Given the description of an element on the screen output the (x, y) to click on. 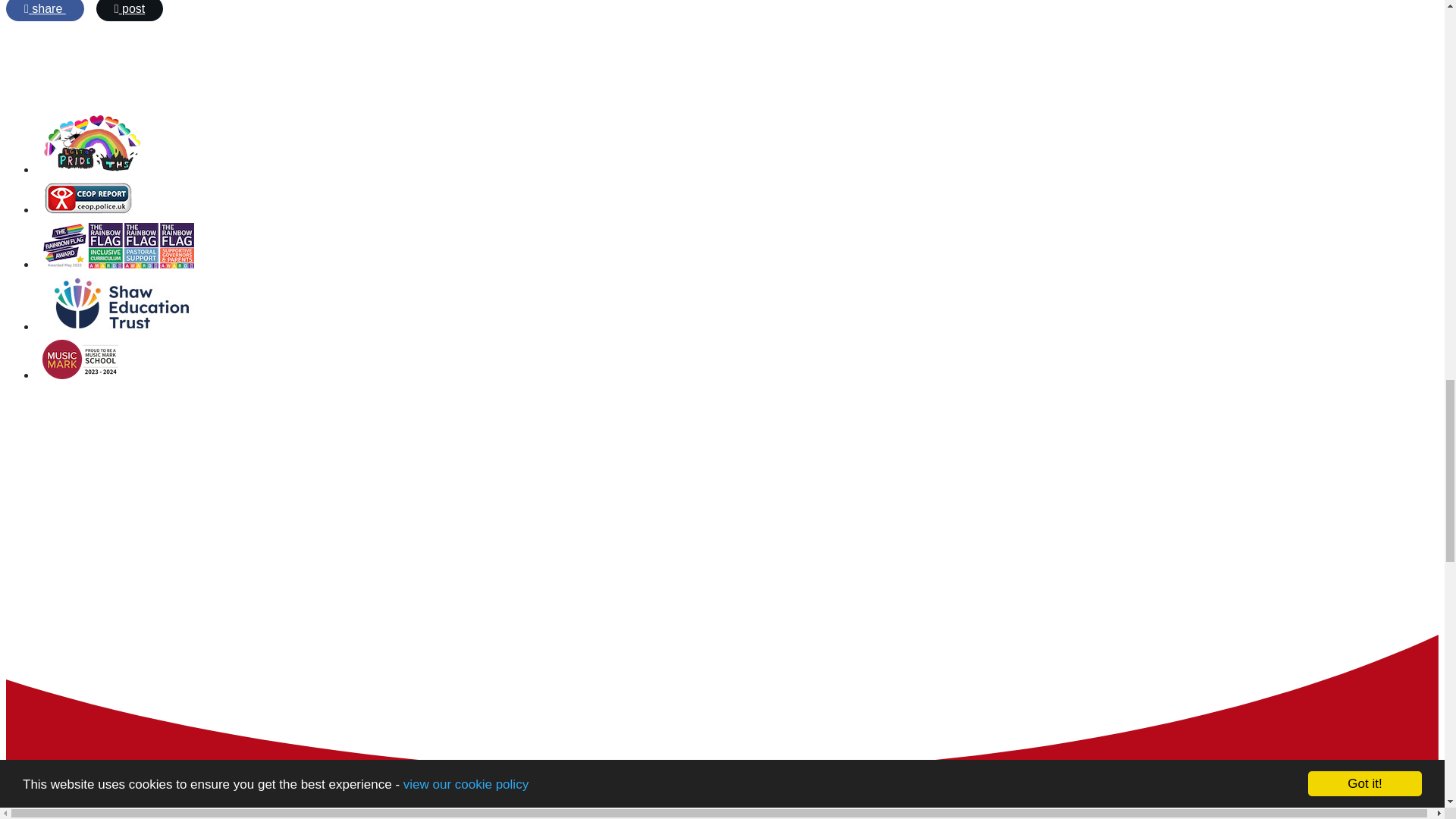
CEOP (87, 209)
Share on Facebook (44, 10)
Flag Awards (118, 263)
Post on X (129, 10)
Music Mark (79, 374)
Shaw trust (119, 326)
